Given the description of an element on the screen output the (x, y) to click on. 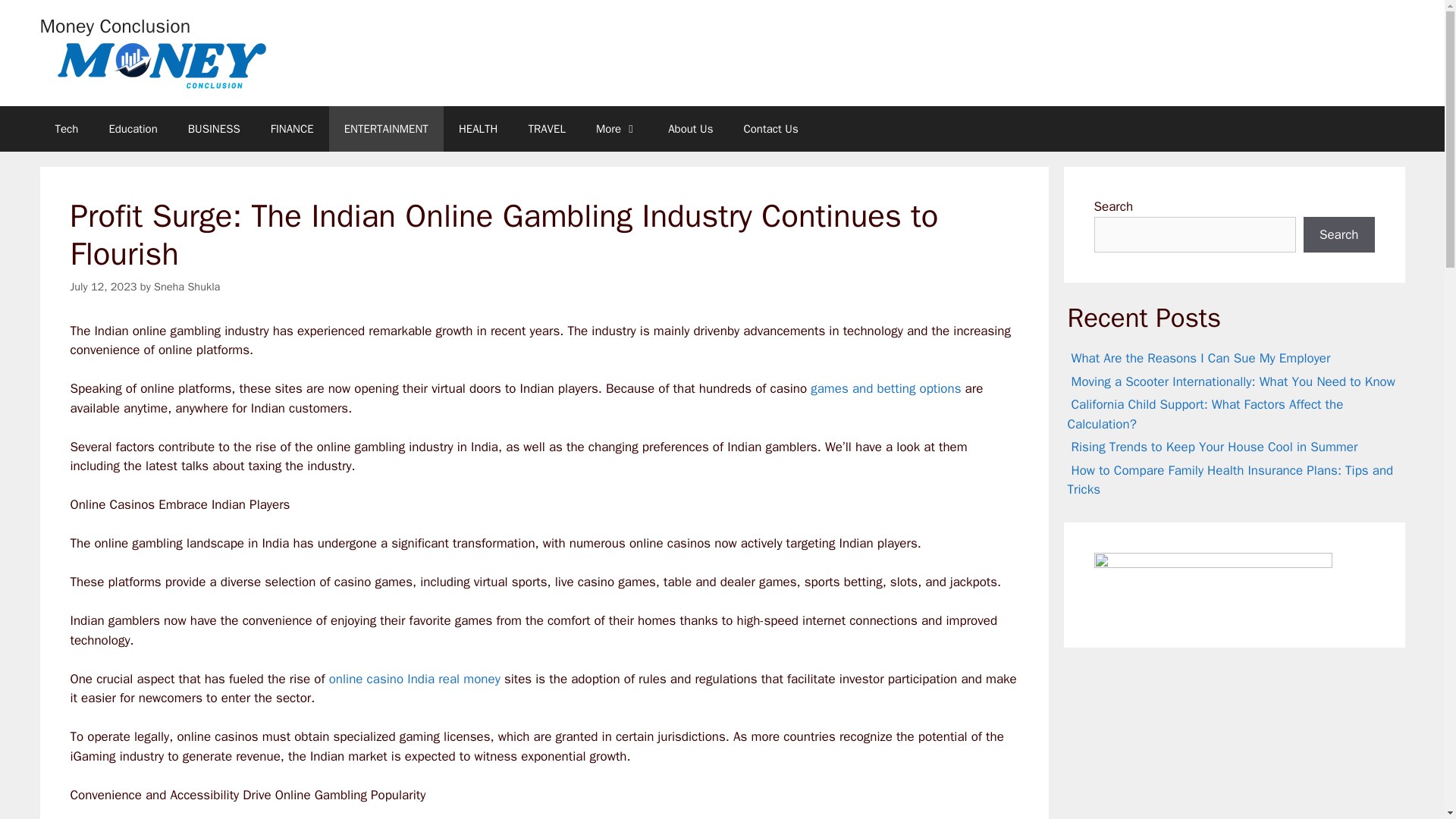
Contact Us (770, 128)
View all posts by Sneha Shukla (186, 286)
What Are the Reasons I Can Sue My Employer (1201, 358)
Tech (66, 128)
HEALTH (478, 128)
Sneha Shukla (186, 286)
TRAVEL (545, 128)
Moving a Scooter Internationally: What You Need to Know (1233, 381)
BUSINESS (214, 128)
